Given the description of an element on the screen output the (x, y) to click on. 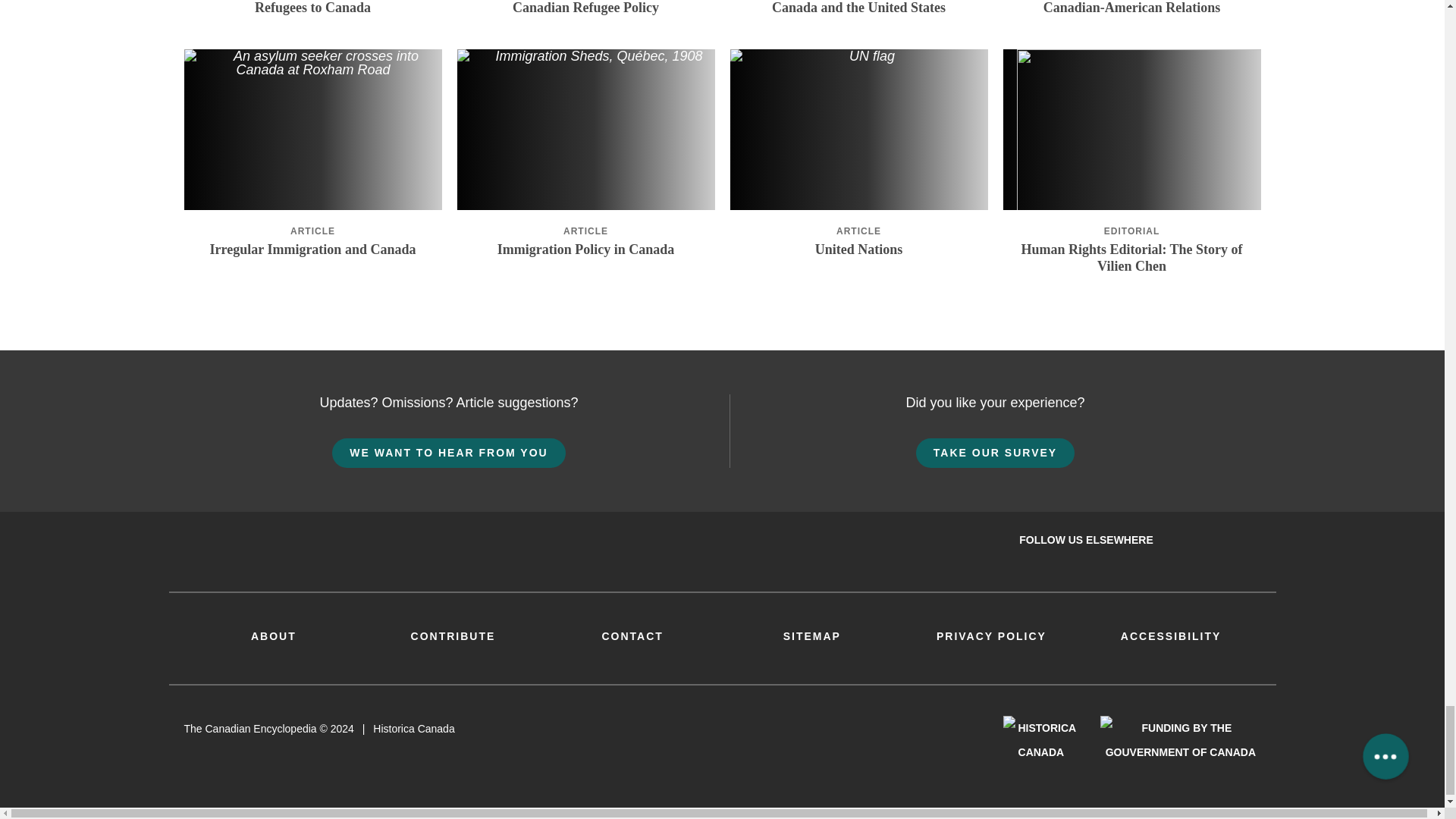
Historica Canada (1040, 739)
Funding by the gouvernment of Canada (1180, 739)
